Given the description of an element on the screen output the (x, y) to click on. 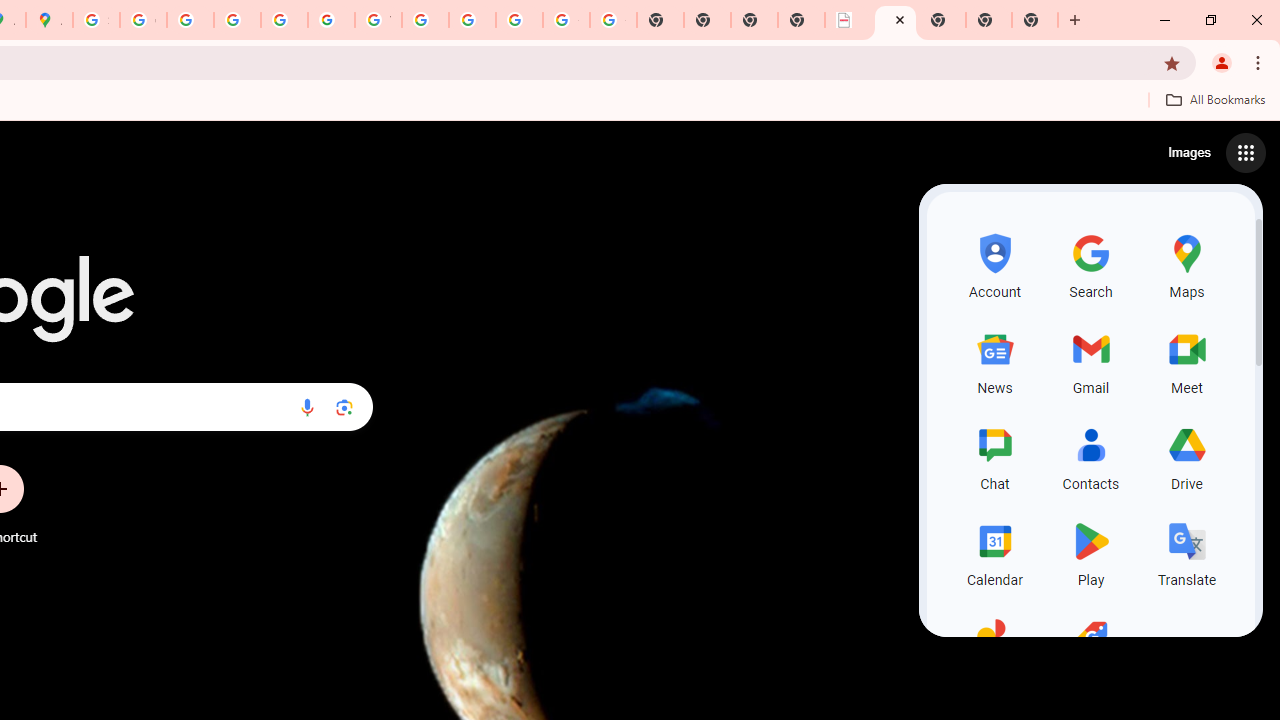
Maps, row 1 of 5 and column 3 of 3 in the first section (1186, 263)
Privacy Help Center - Policies Help (189, 20)
Search, row 1 of 5 and column 2 of 3 in the first section (1090, 263)
Calendar, row 4 of 5 and column 1 of 3 in the first section (994, 551)
